Given the description of an element on the screen output the (x, y) to click on. 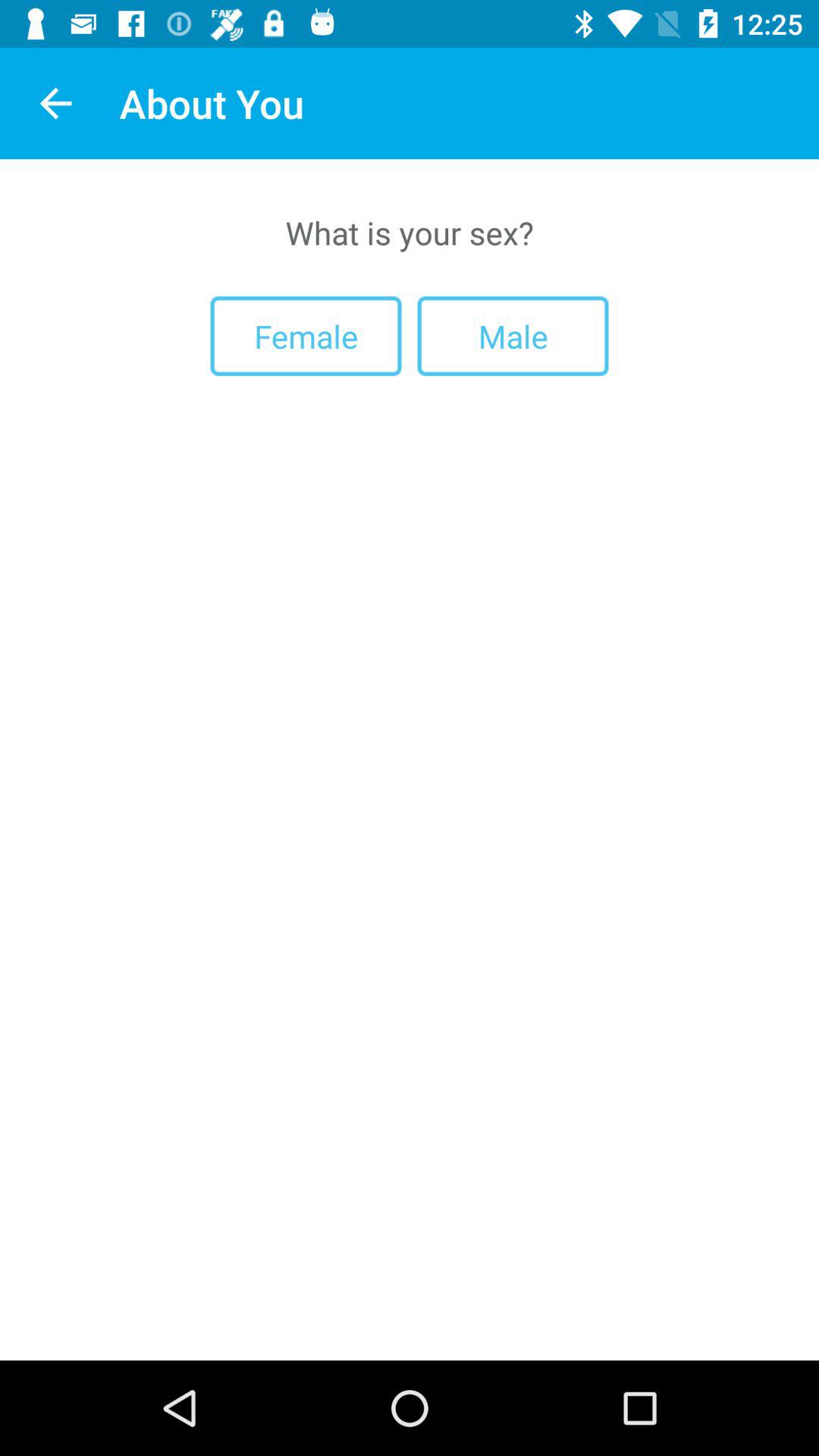
select the item next to male item (305, 335)
